Given the description of an element on the screen output the (x, y) to click on. 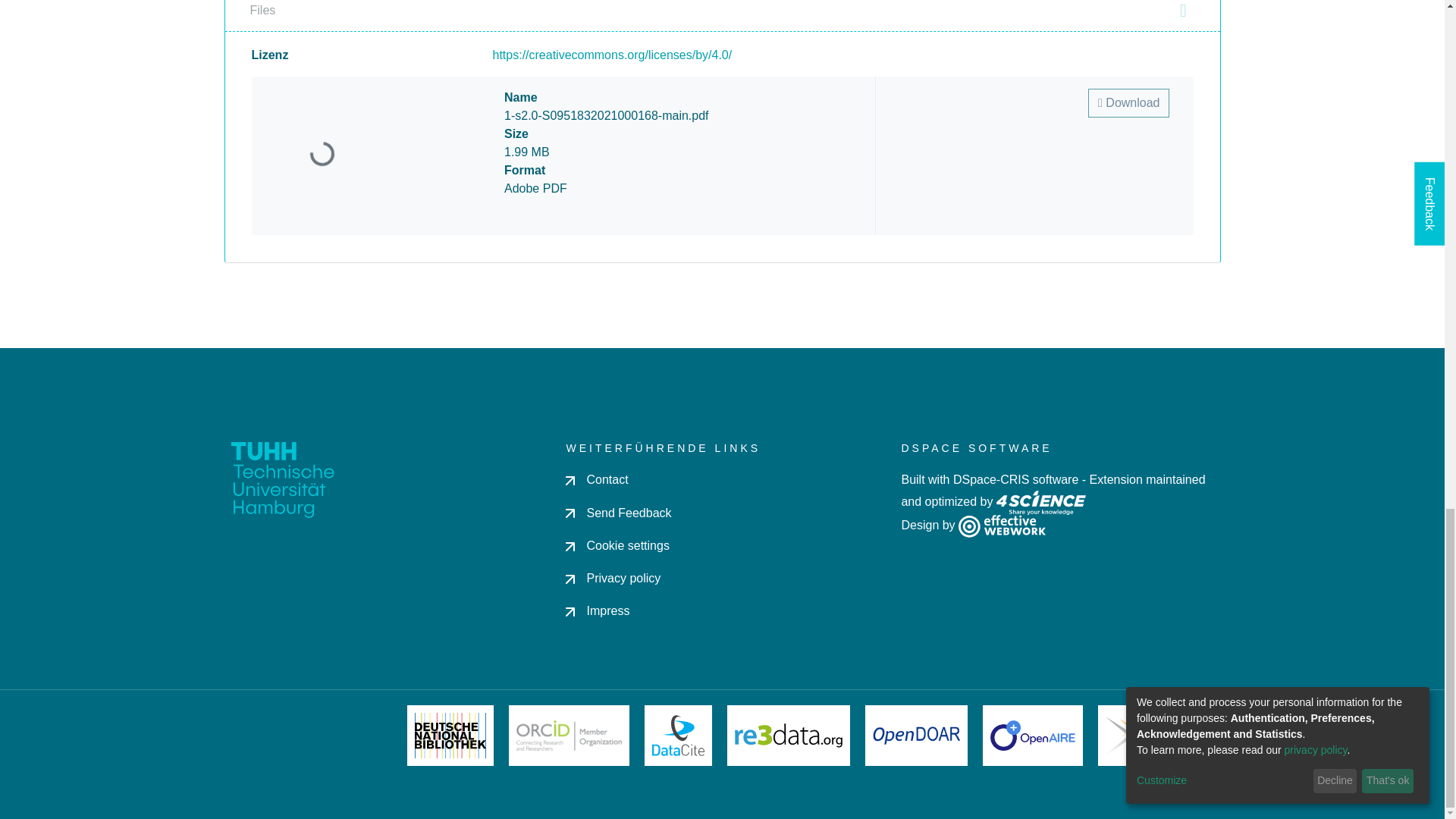
effective webwork GmbH Hamburg (1001, 524)
Close section (1183, 10)
